Given the description of an element on the screen output the (x, y) to click on. 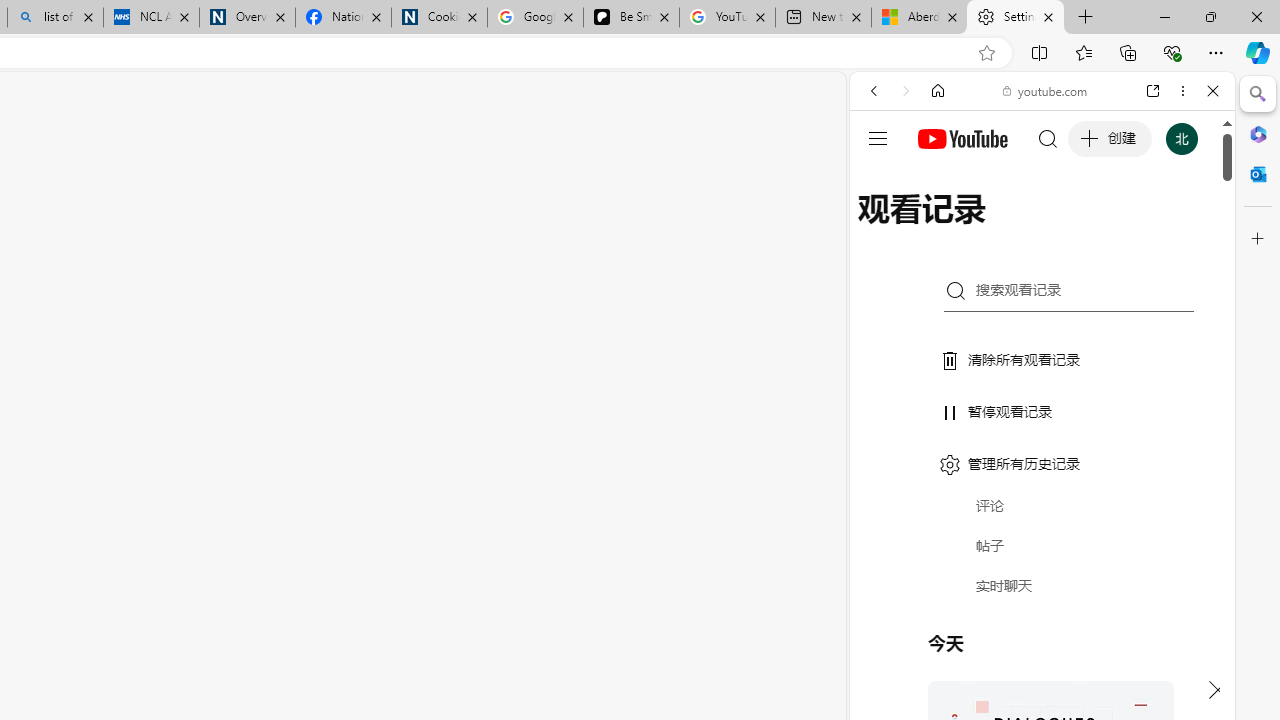
#you (1042, 445)
Trailer #2 [HD] (1042, 592)
Be Smart | creating Science videos | Patreon (631, 17)
Preferences (1189, 228)
WEB   (882, 228)
SEARCH TOOLS (1093, 228)
